Given the description of an element on the screen output the (x, y) to click on. 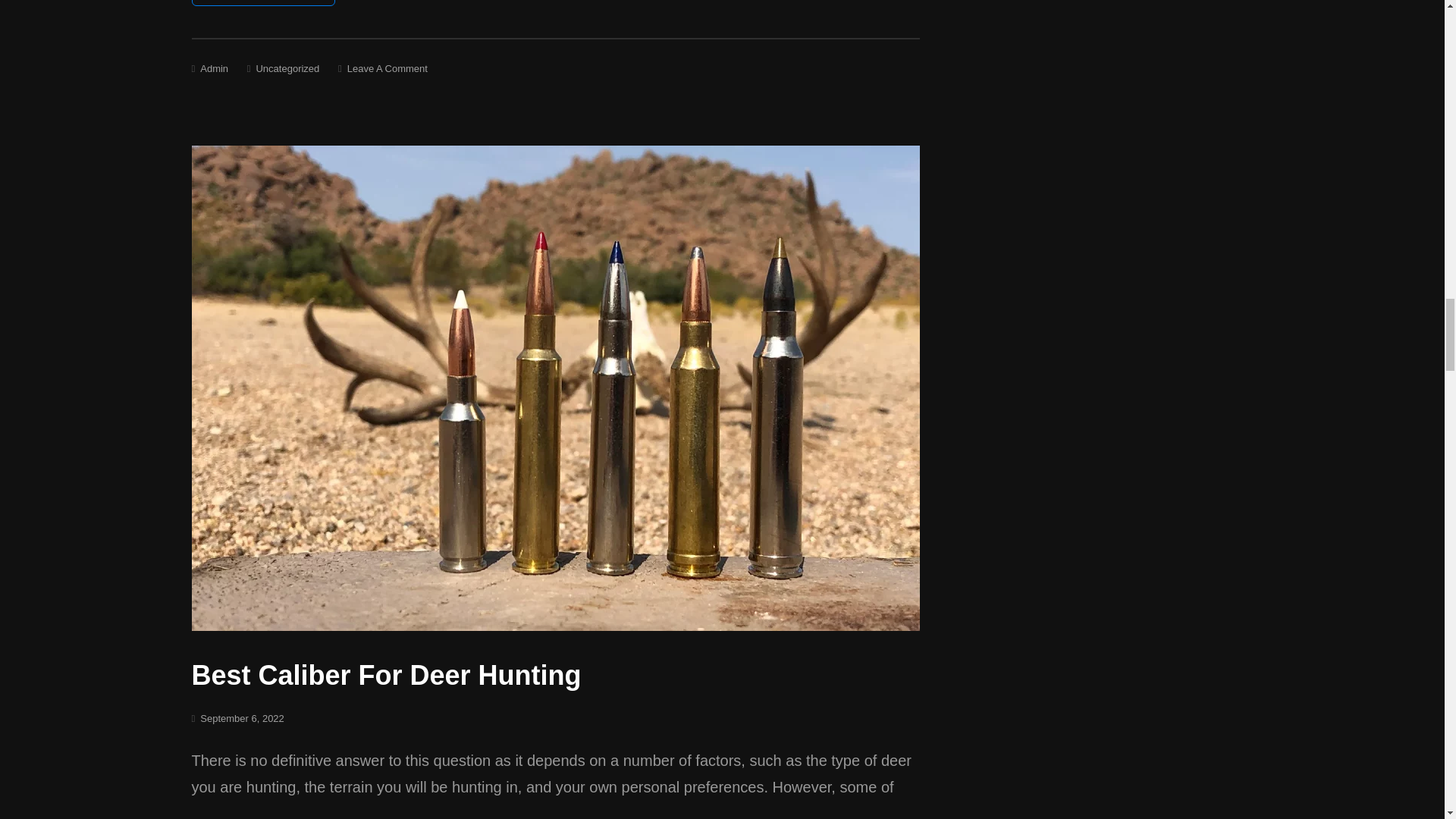
Uncategorized (287, 68)
Admin (214, 68)
Best Caliber For Deer Hunting (385, 675)
Leave A Comment (387, 68)
